Given the description of an element on the screen output the (x, y) to click on. 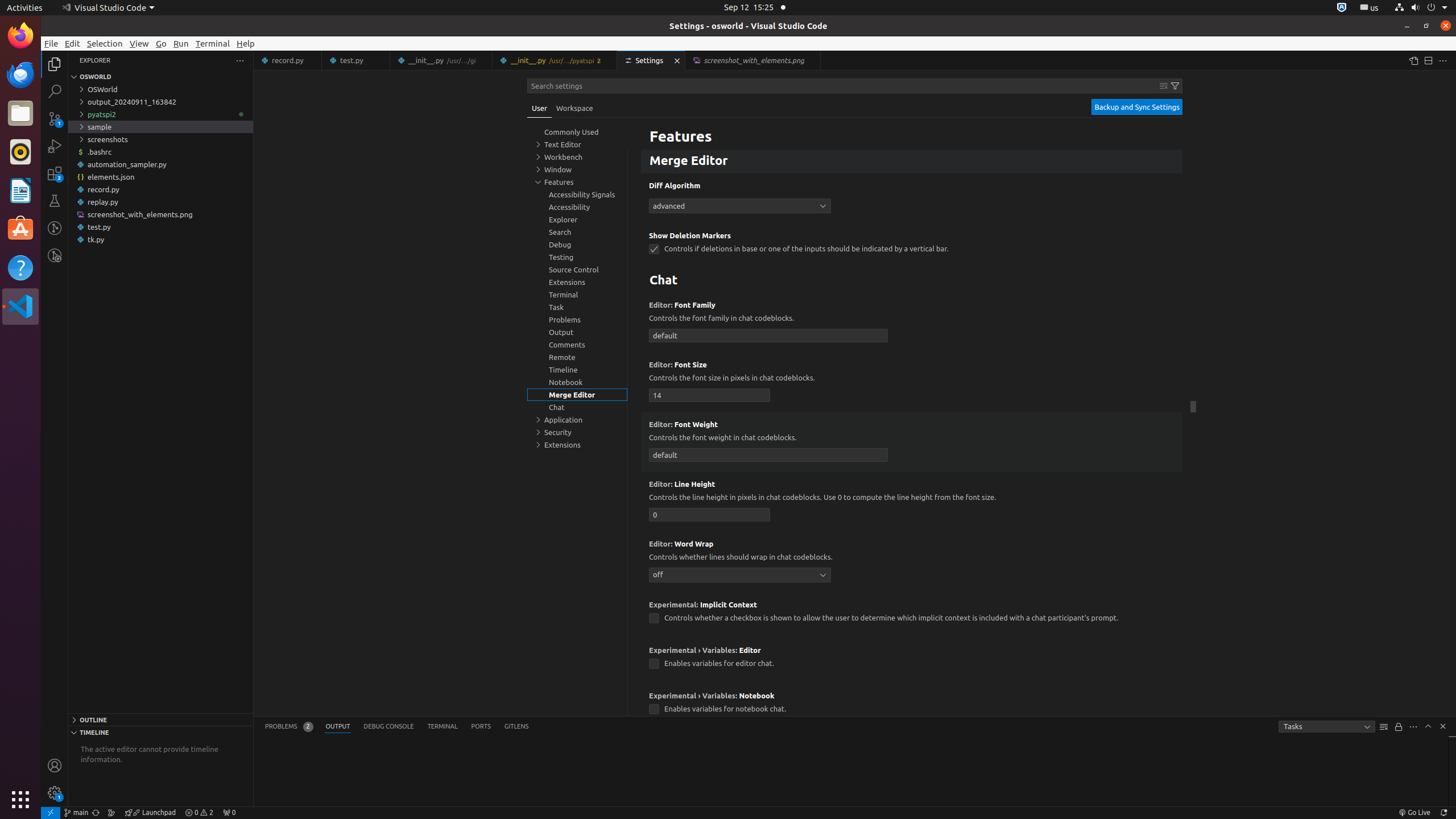
sample Element type: tree-item (160, 126)
Source Control (Ctrl+Shift+G G) - 1 pending changes Source Control (Ctrl+Shift+G G) - 1 pending changes Element type: page-tab (54, 118)
Notebook, group Element type: tree-item (577, 381)
Accessibility Signals, group Element type: tree-item (577, 194)
tk.py Element type: tree-item (160, 239)
